Given the description of an element on the screen output the (x, y) to click on. 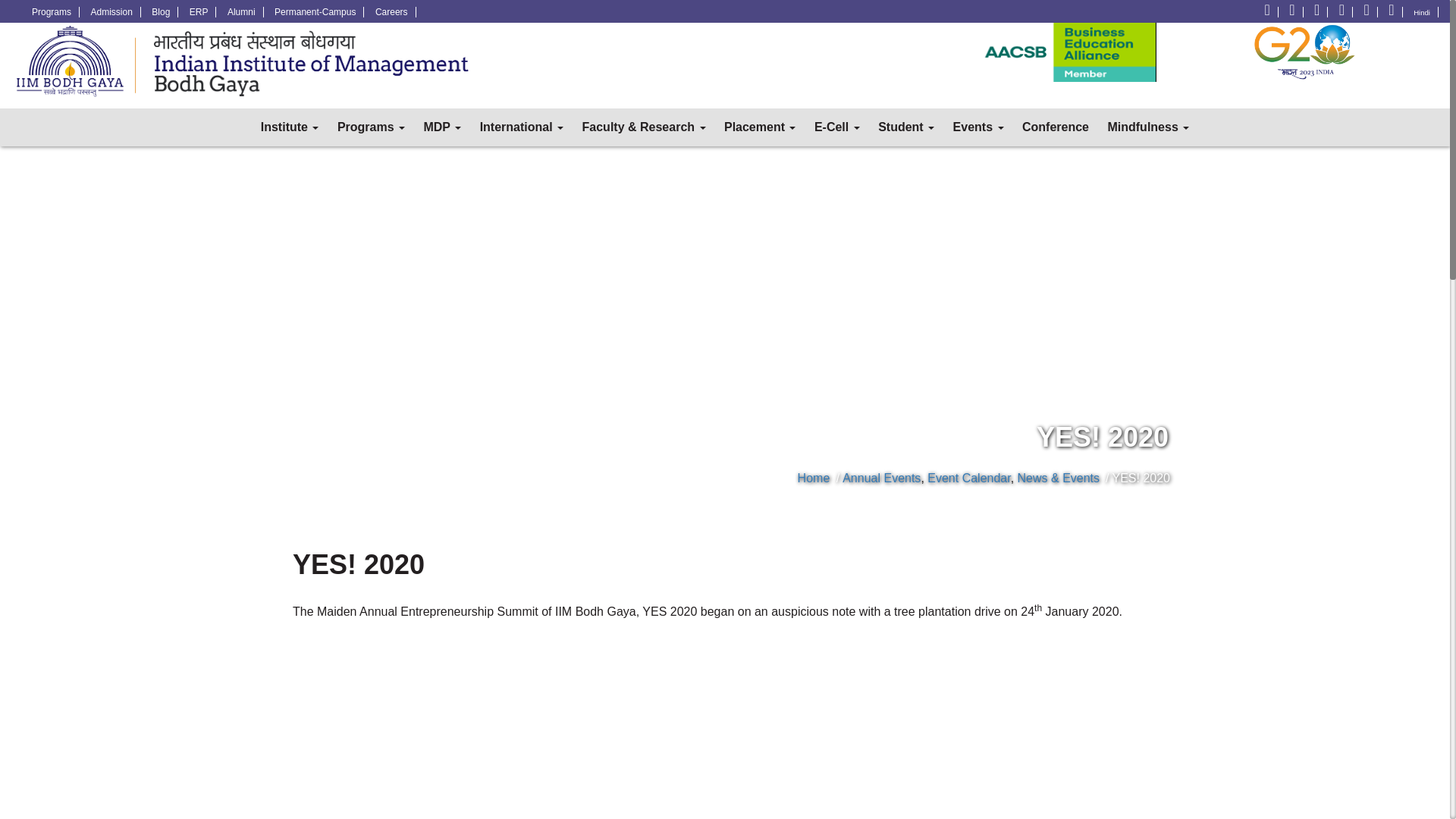
Admission (110, 11)
Blog (160, 11)
Alumni (241, 11)
Careers (392, 11)
Programs (52, 11)
Institute (289, 127)
Permanent-Campus (315, 11)
MDP (441, 127)
Hindi (1422, 11)
ERP (199, 11)
Programs (371, 127)
Institute (289, 127)
Programs (371, 127)
